Given the description of an element on the screen output the (x, y) to click on. 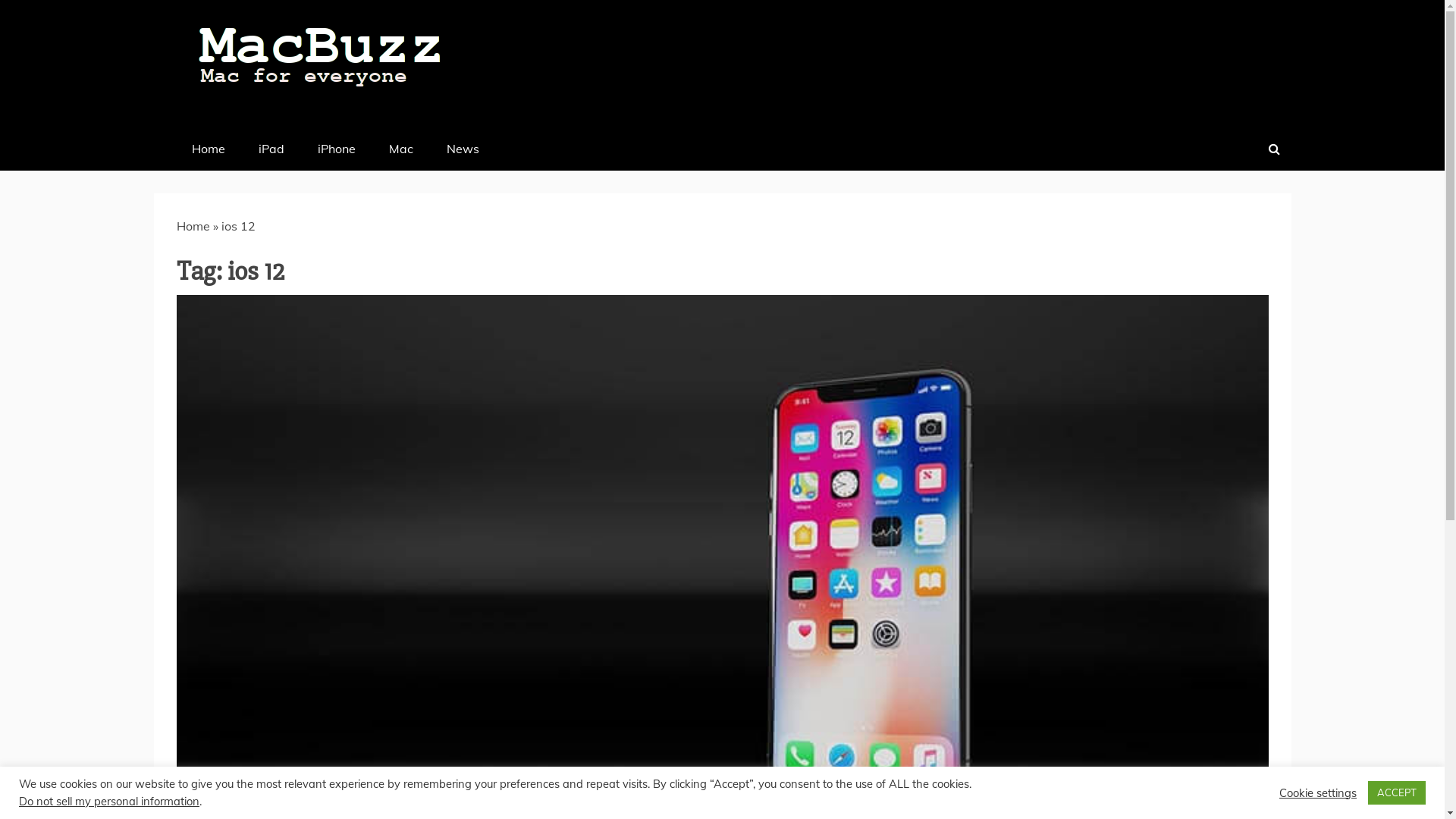
Do not sell my personal information Element type: text (108, 800)
Cookie settings Element type: text (1317, 792)
Home Element type: text (192, 225)
iPhone Element type: text (335, 148)
MAC BUZZ Element type: text (288, 133)
News Element type: text (461, 148)
ACCEPT Element type: text (1396, 792)
iPad Element type: text (270, 148)
Mac Element type: text (400, 148)
Home Element type: text (207, 148)
